Given the description of an element on the screen output the (x, y) to click on. 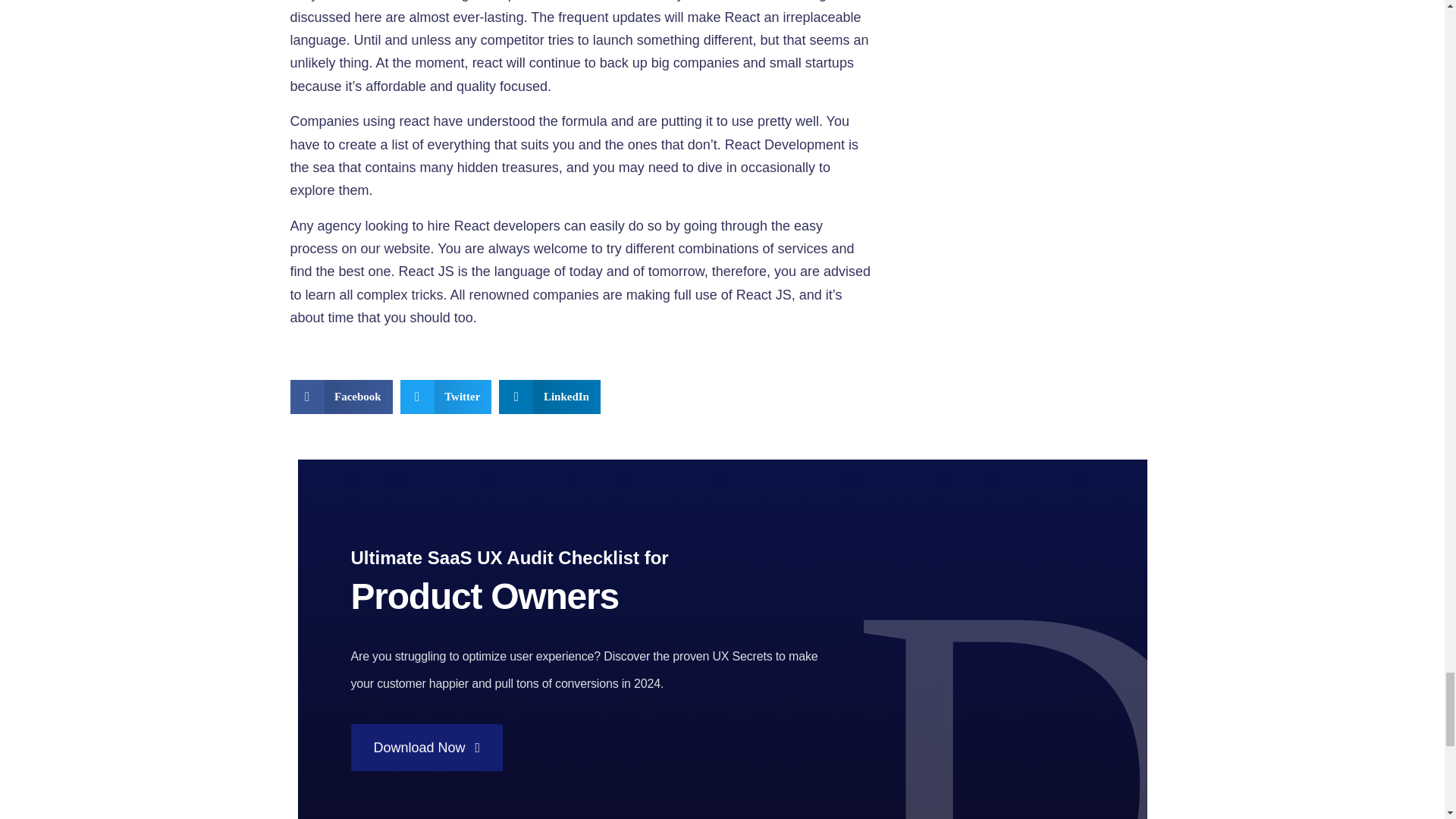
Download Now (426, 747)
